Given the description of an element on the screen output the (x, y) to click on. 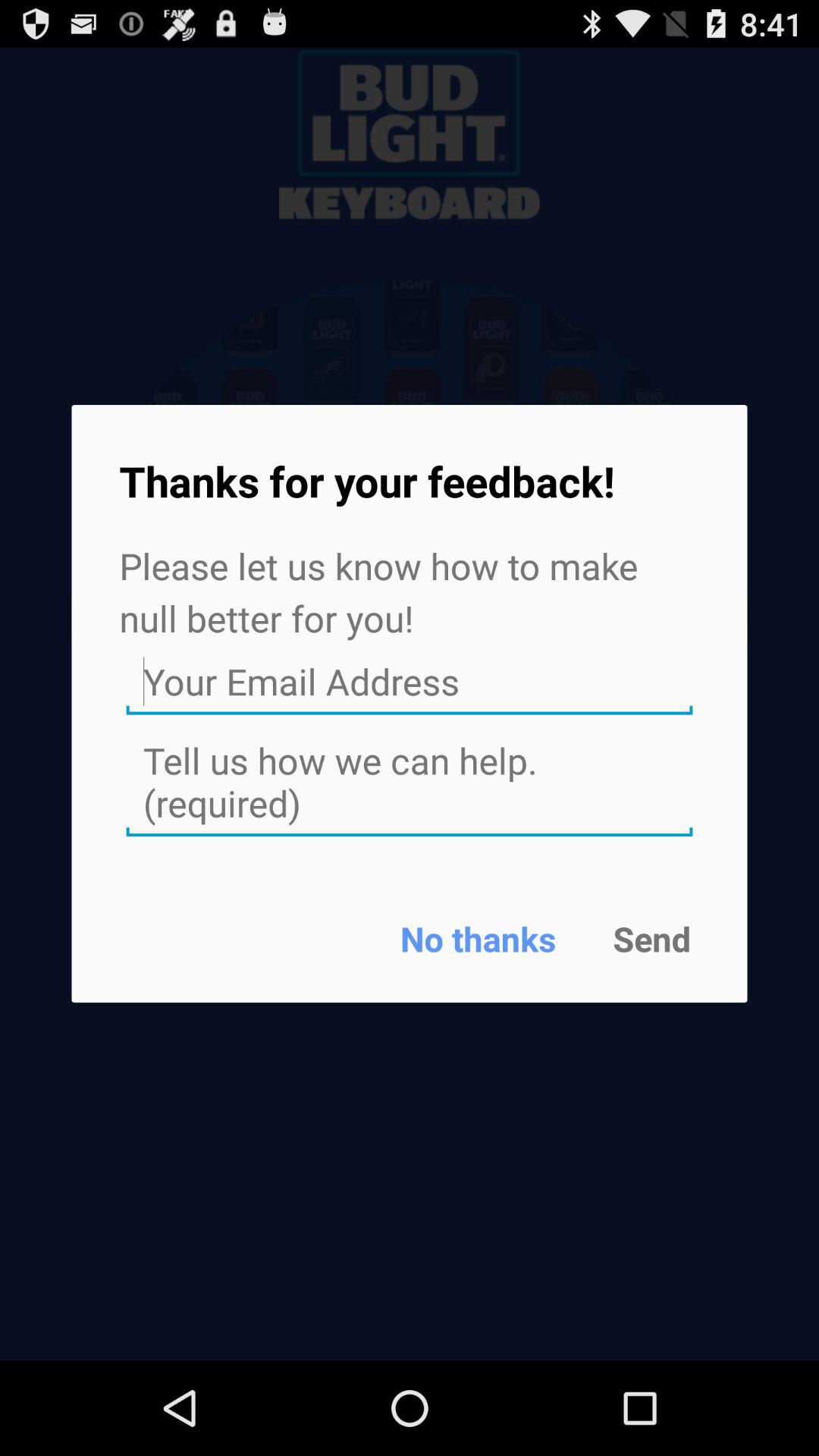
give feedback to developers (409, 782)
